Given the description of an element on the screen output the (x, y) to click on. 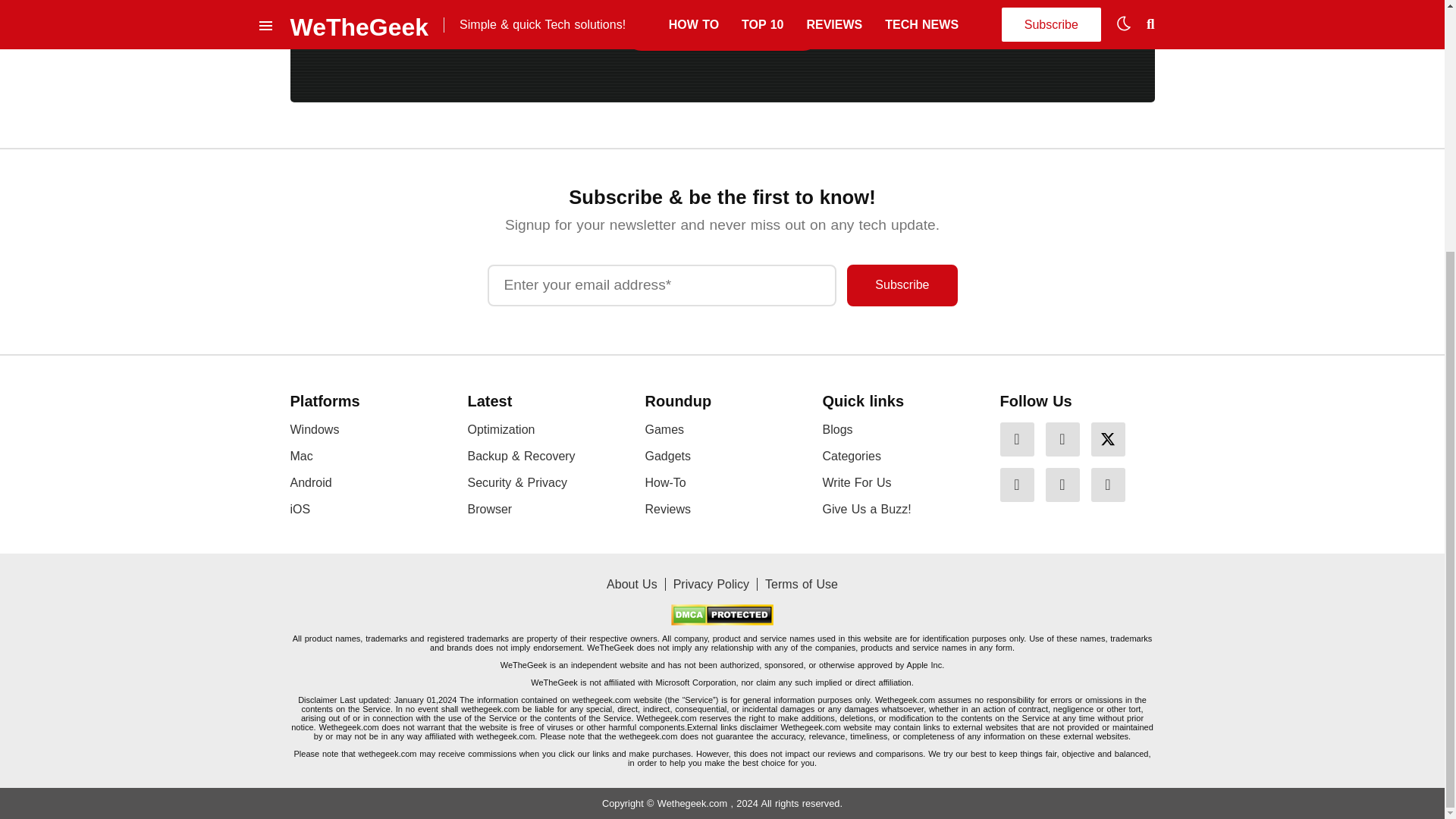
Subscribe (901, 285)
BACK TO HOME (722, 32)
Subscribe (901, 285)
Windows (314, 429)
Mac (301, 455)
